Given the description of an element on the screen output the (x, y) to click on. 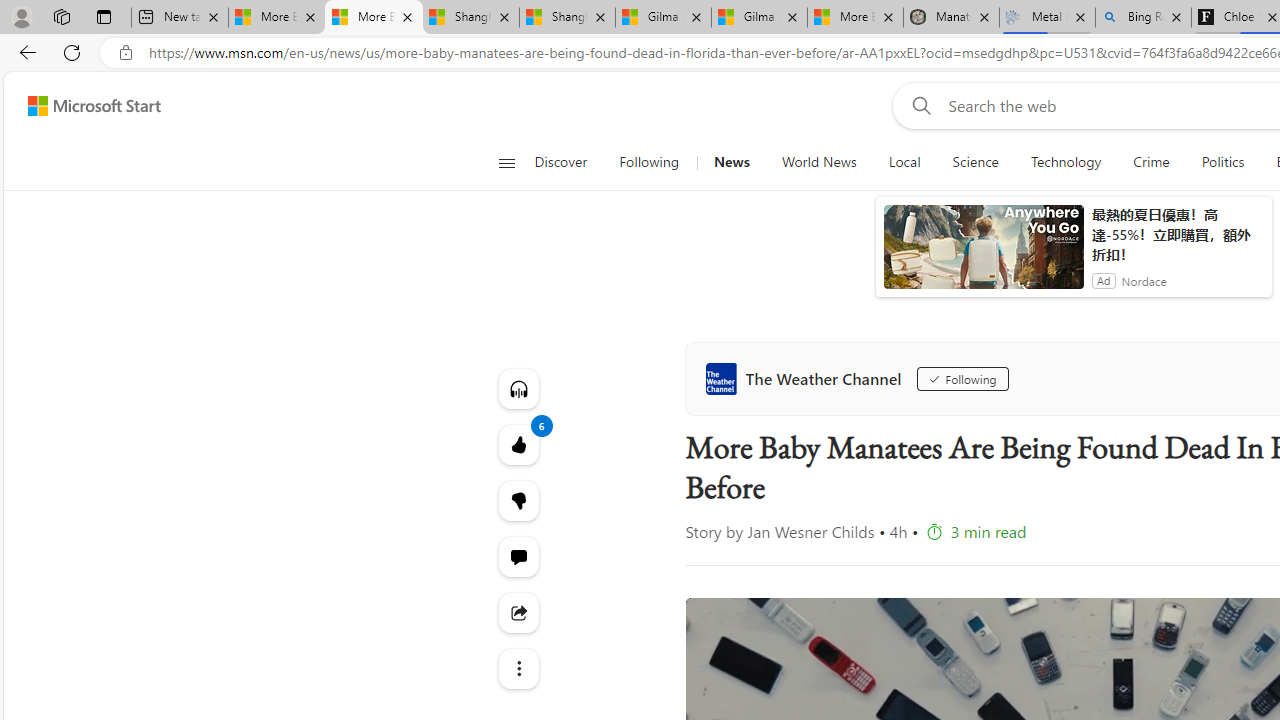
Start the conversation (517, 556)
Technology (1066, 162)
Share this story (517, 612)
Microsoft Start (94, 105)
Dislike (517, 500)
Share this story (517, 612)
